Given the description of an element on the screen output the (x, y) to click on. 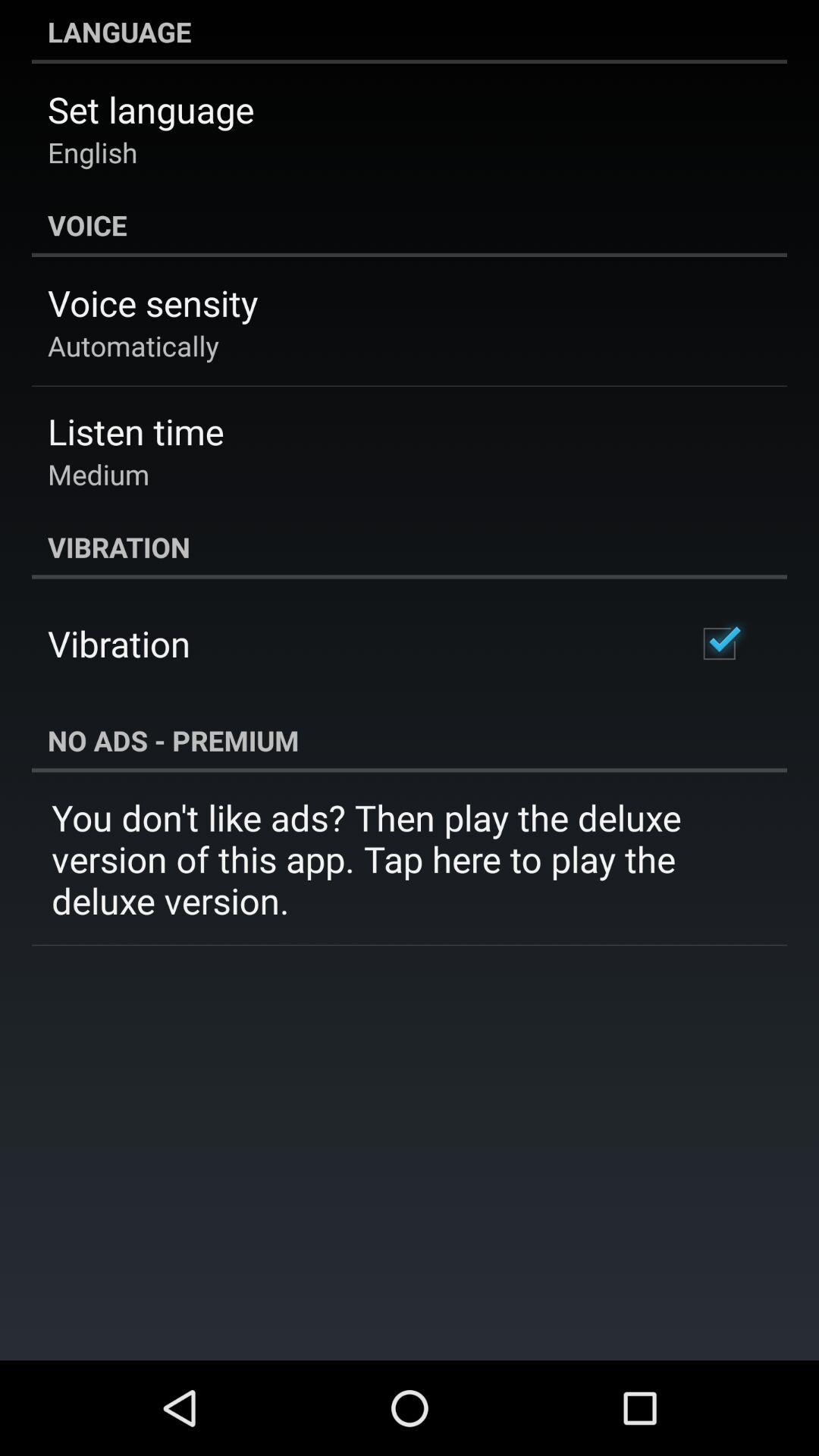
launch the icon below no ads - premium (409, 858)
